Given the description of an element on the screen output the (x, y) to click on. 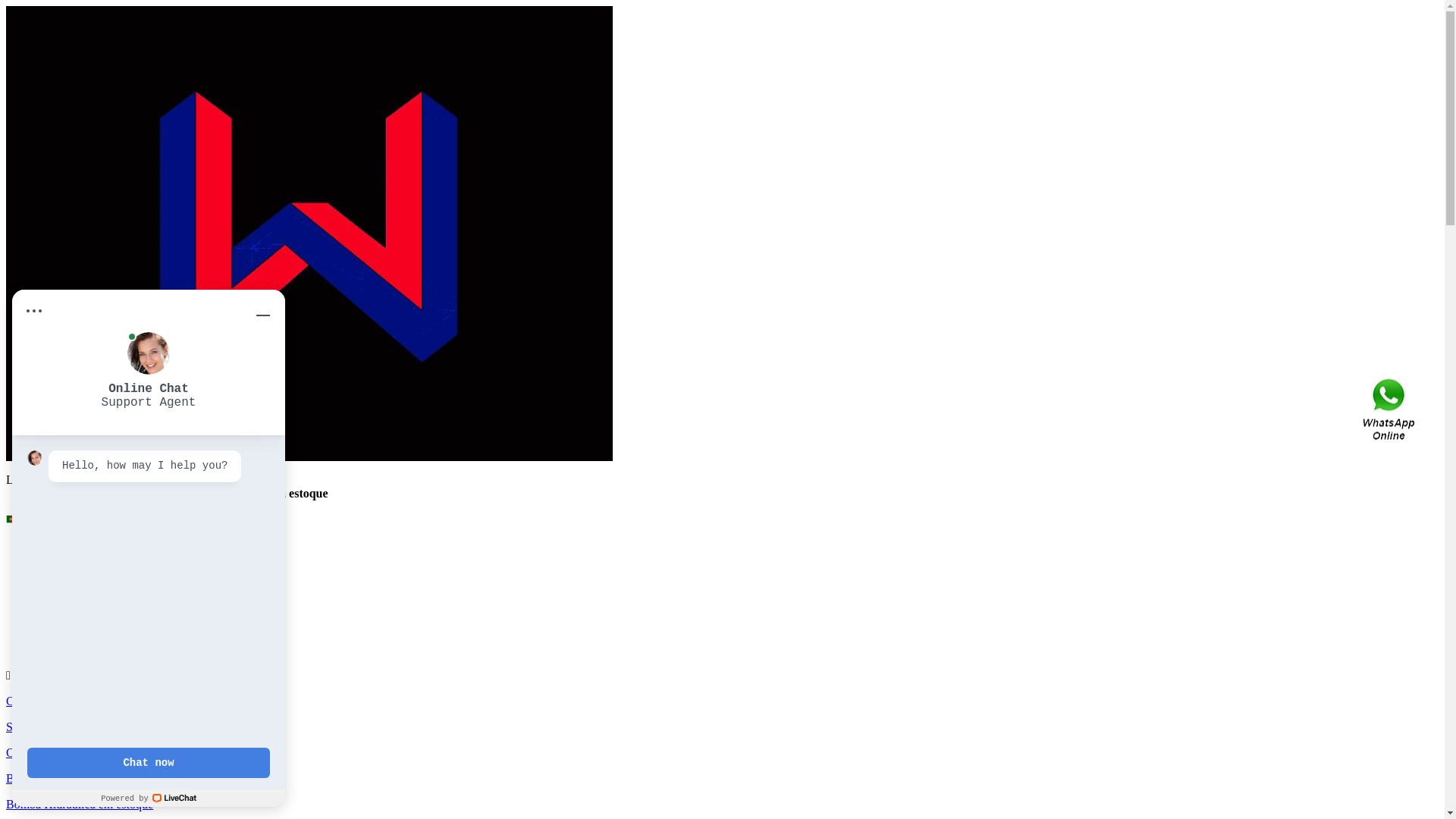
Bombas de Engrenagem Element type: text (95, 612)
Stock Categories Element type: text (47, 726)
Controle Qualidade Element type: text (53, 752)
Contact Us Element type: hover (1389, 409)
Casa Element type: text (17, 700)
Bombas de Engrenagem Element type: text (125, 571)
Casa Element type: text (47, 544)
Controle Qualidade Element type: text (83, 599)
Stock Categories Element type: text (77, 558)
Bombas de Engrenagem Element type: text (65, 777)
